Given the description of an element on the screen output the (x, y) to click on. 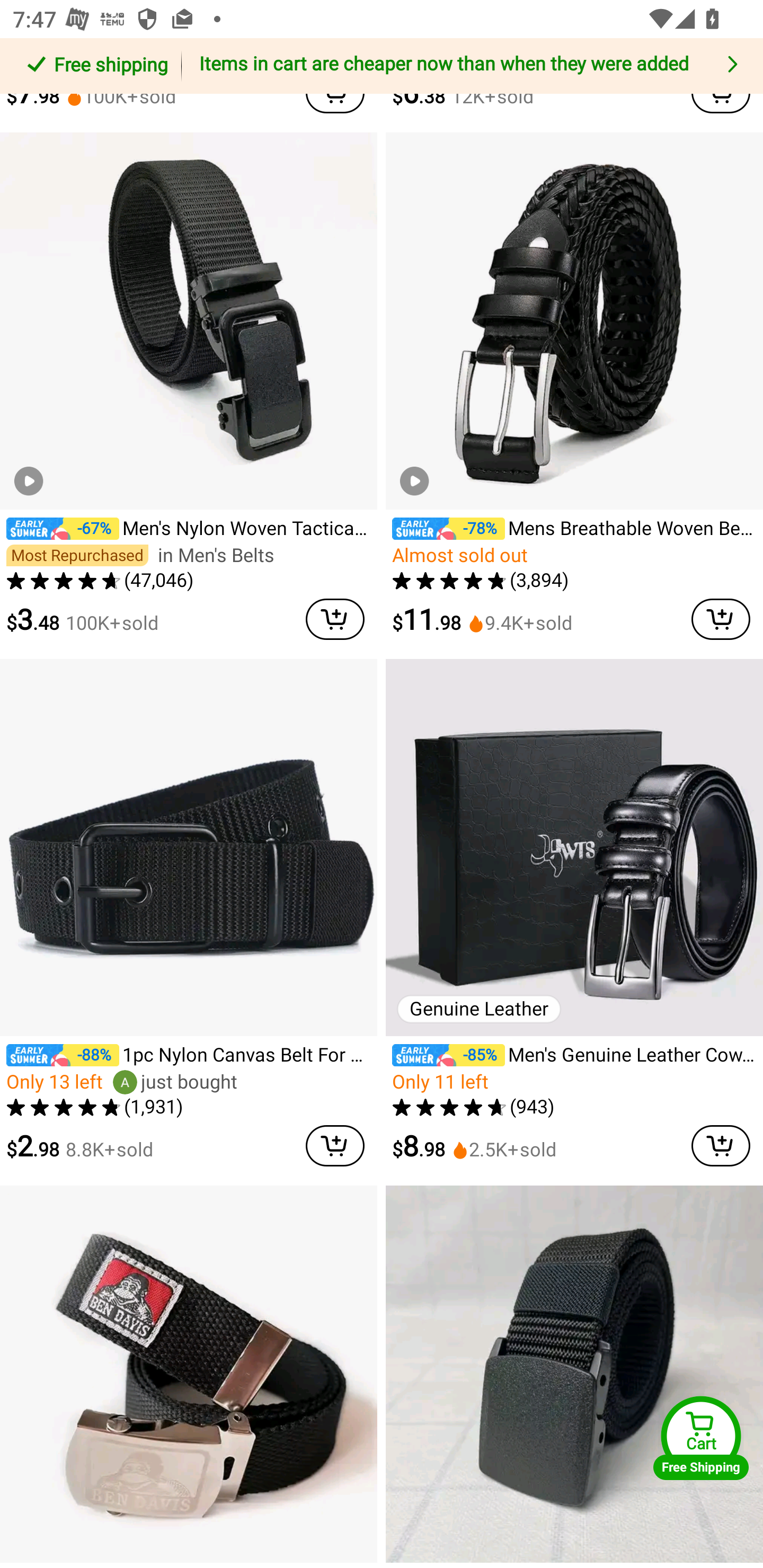
Belts (742, 56)
 Free shipping (93, 65)
Cart Free Shipping Cart (701, 1437)
